Given the description of an element on the screen output the (x, y) to click on. 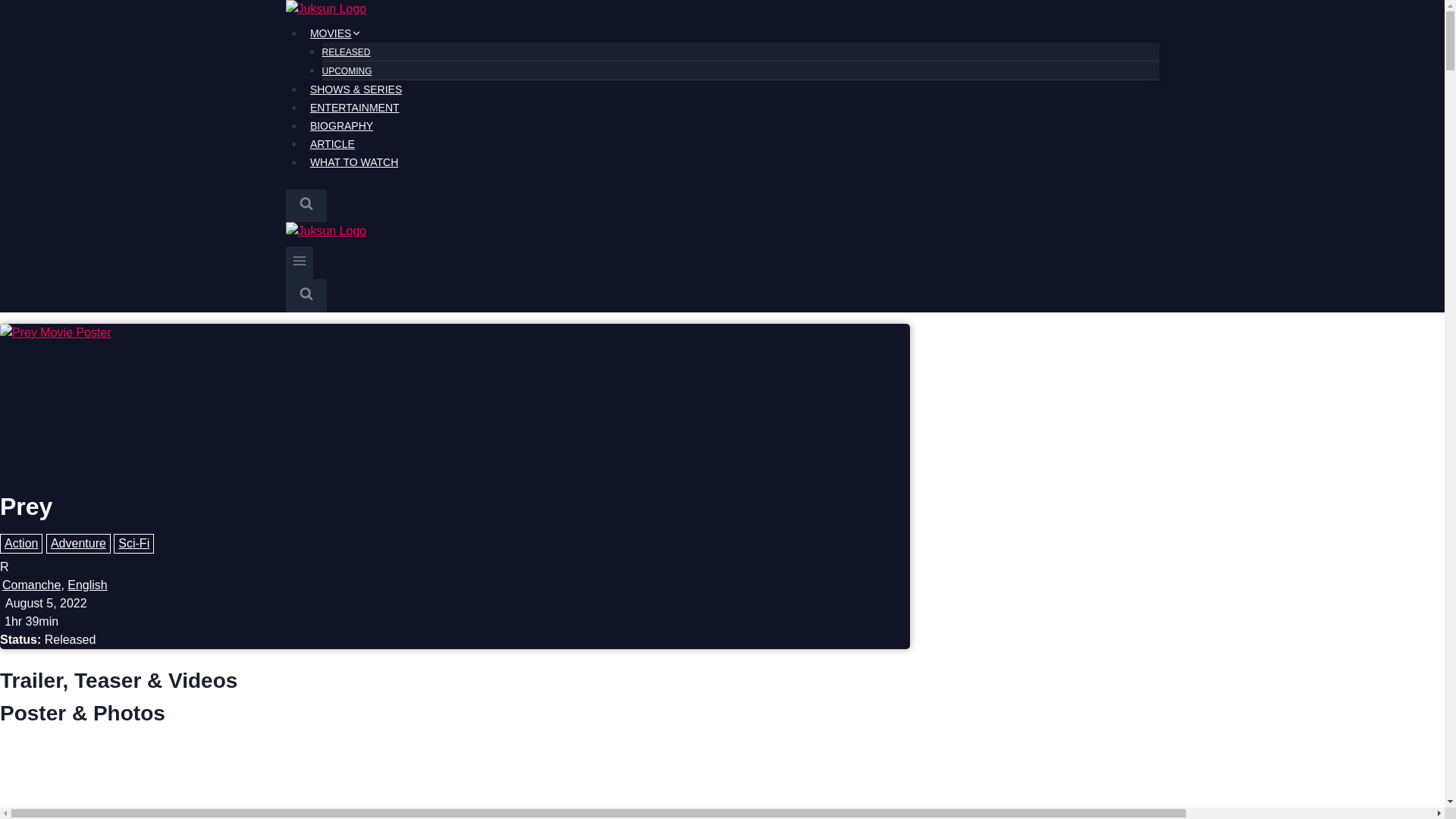
Action (21, 543)
ENTERTAINMENT (354, 107)
Sci-Fi (133, 543)
WHAT TO WATCH (353, 162)
Adventure (78, 543)
ARTICLE (331, 144)
RELEASED (345, 51)
English (86, 585)
UPCOMING (346, 70)
BIOGRAPHY (340, 125)
Comanche (31, 585)
MOVIES (335, 33)
